Given the description of an element on the screen output the (x, y) to click on. 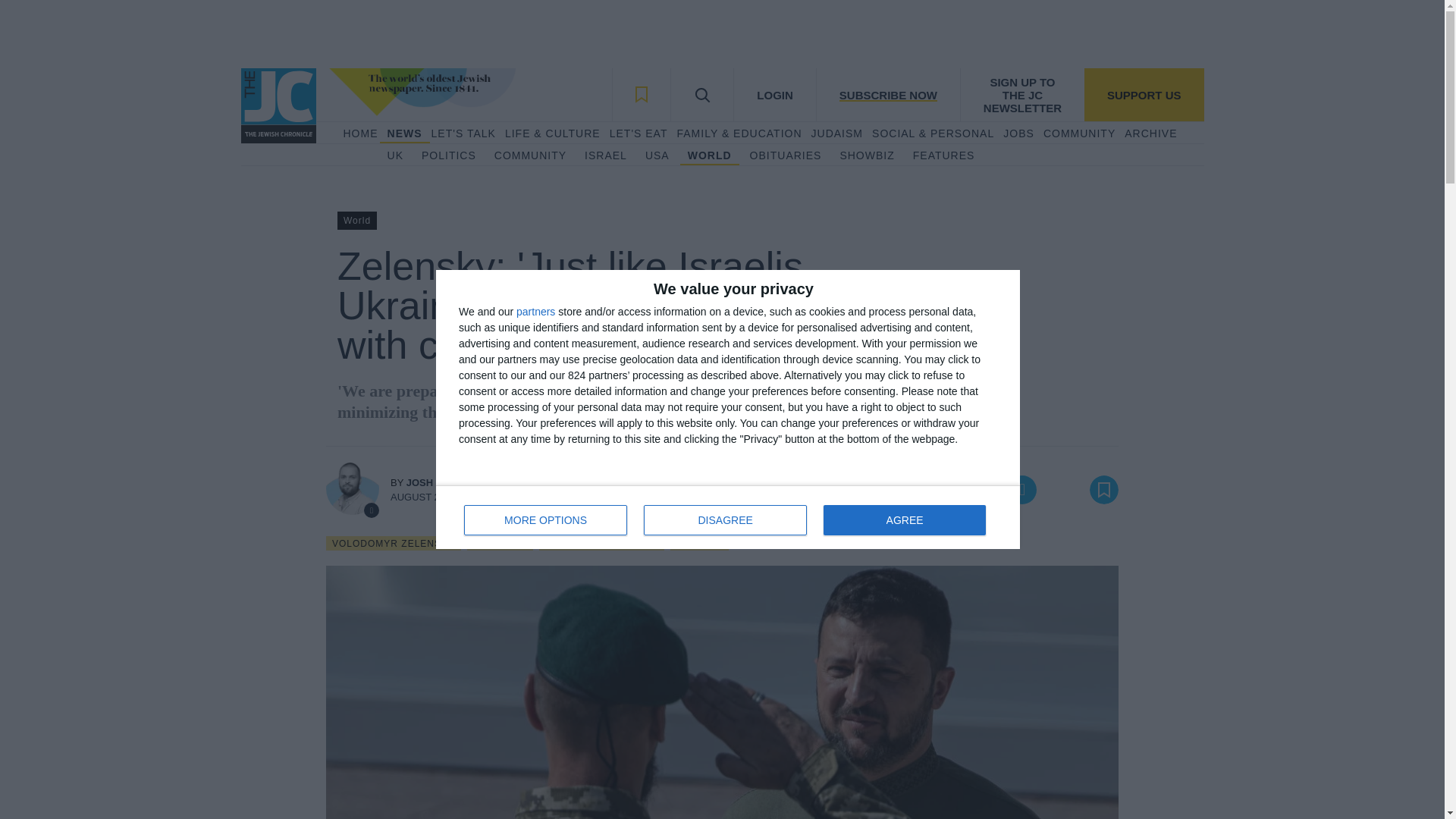
MORE OPTIONS (545, 520)
USA (657, 155)
UK (395, 155)
SHOWBIZ (866, 155)
OBITUARIES (785, 155)
partners (535, 311)
SUPPORT US (1144, 94)
ARCHIVE (1150, 133)
DISAGREE (724, 520)
JOBS (1018, 133)
NEWS (404, 133)
POLITICS (449, 155)
AGREE (904, 520)
JUDAISM (836, 133)
SUBSCRIBE NOW (887, 94)
